Given the description of an element on the screen output the (x, y) to click on. 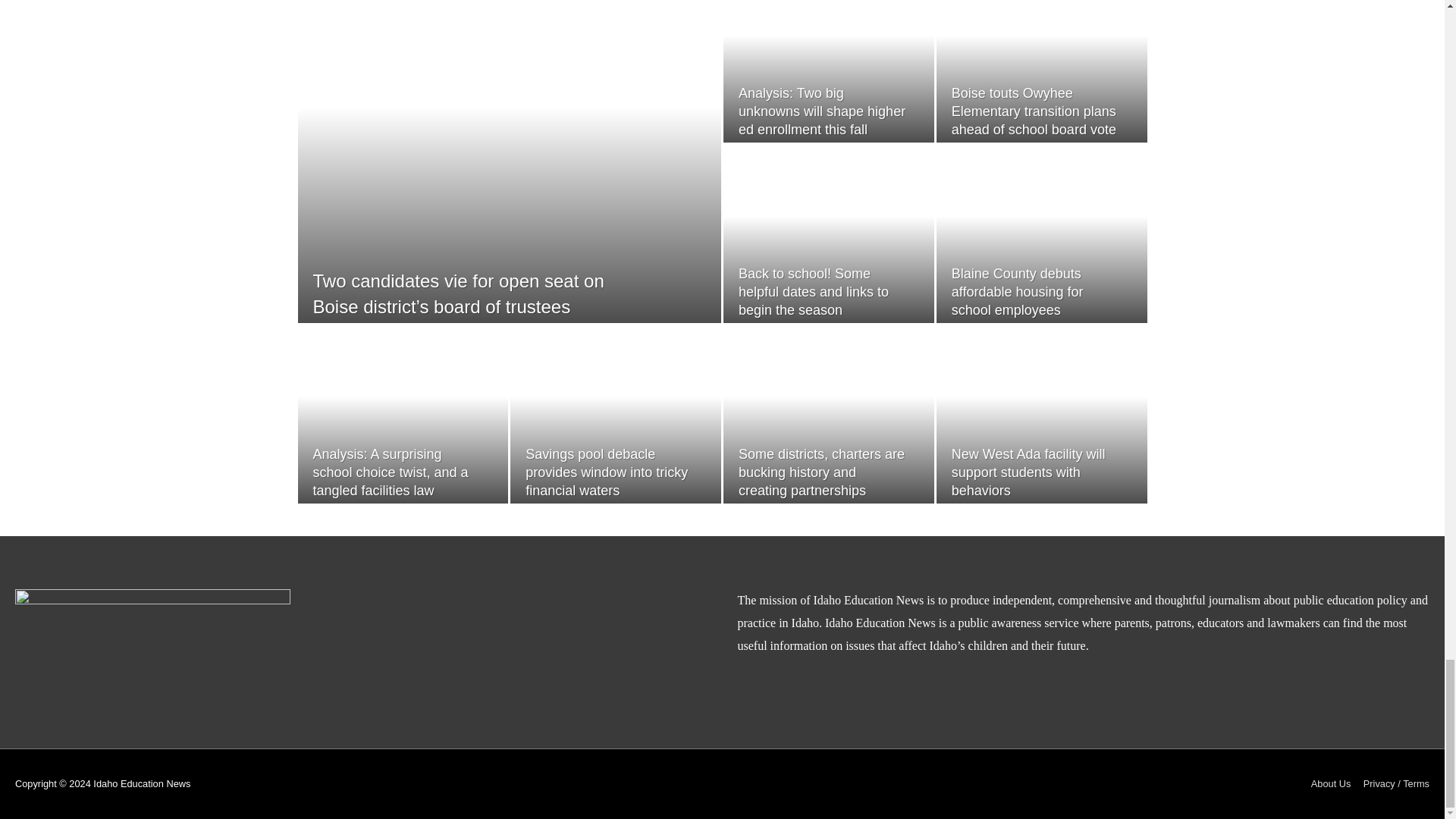
Blaine County debuts affordable housing for school employees (1017, 291)
